Given the description of an element on the screen output the (x, y) to click on. 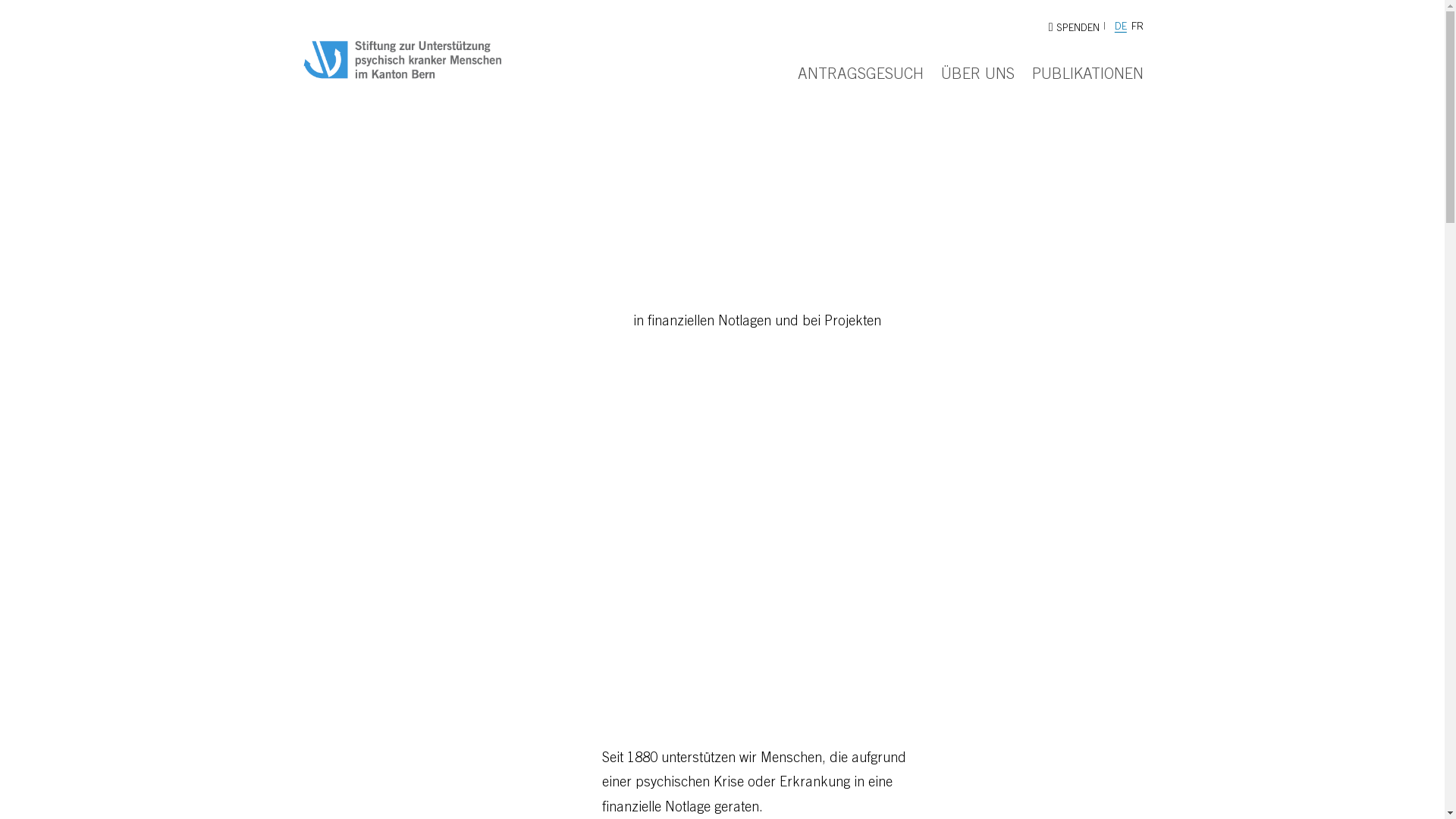
ANTRAGSGESUCH Element type: text (860, 75)
FR Element type: text (1137, 26)
PUBLIKATIONEN Element type: text (1086, 75)
DE Element type: text (1120, 26)
Antragsgesuch Element type: text (694, 387)
SPENDEN Element type: text (1073, 28)
